Given the description of an element on the screen output the (x, y) to click on. 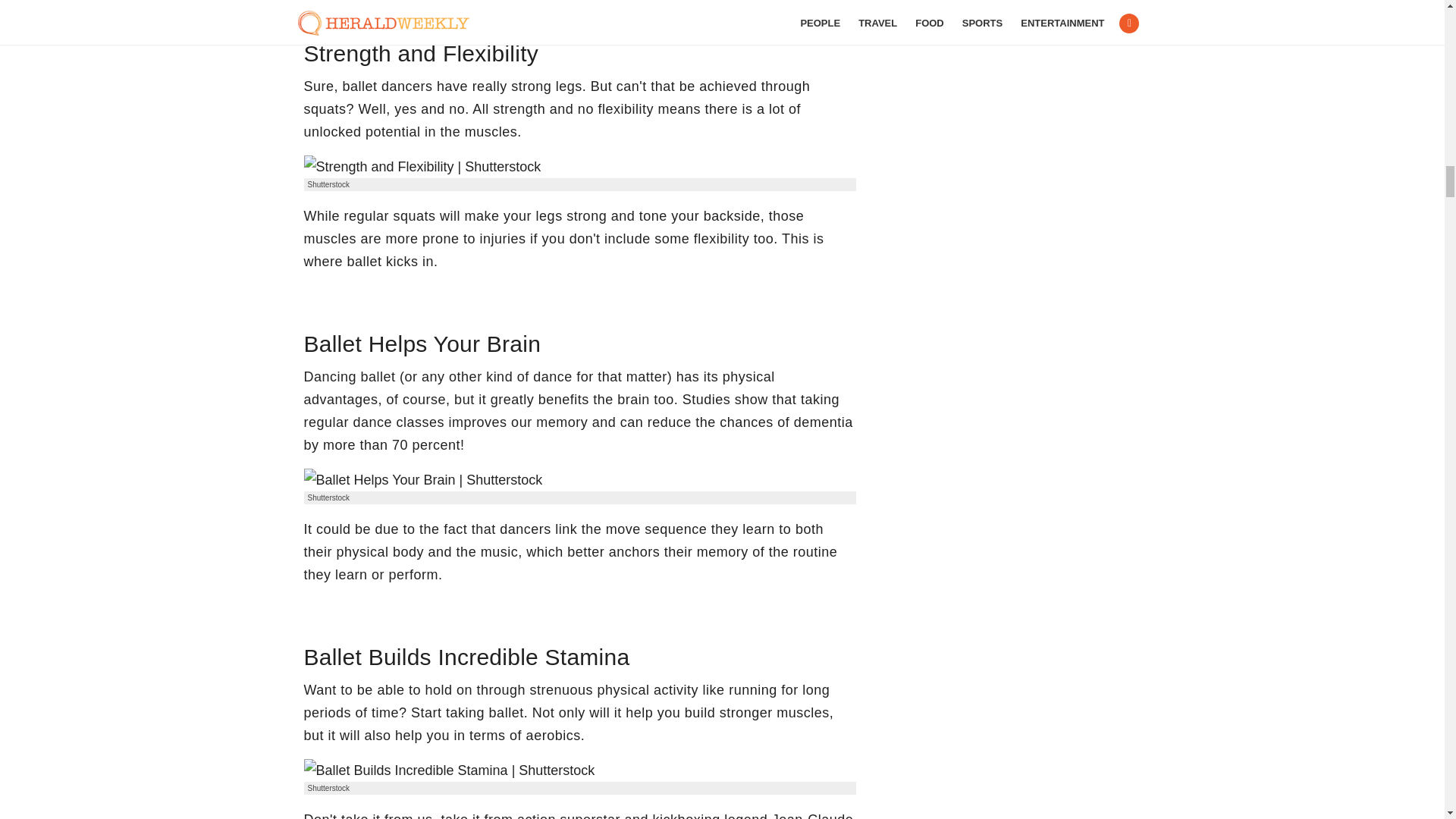
Ballet Helps Your Brain (421, 479)
Strength and Flexibility (421, 166)
Ballet Builds Incredible Stamina (448, 770)
